Given the description of an element on the screen output the (x, y) to click on. 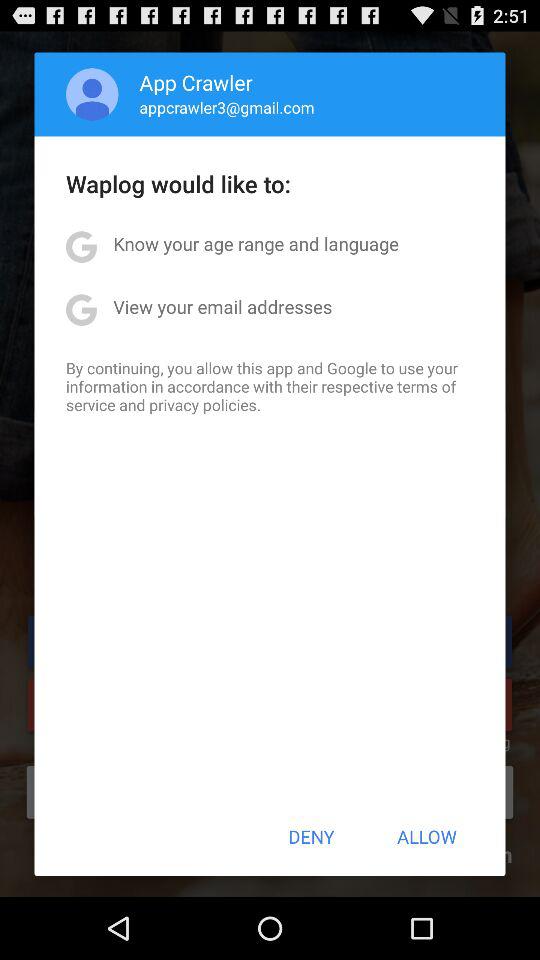
turn off the app below the know your age item (222, 306)
